Given the description of an element on the screen output the (x, y) to click on. 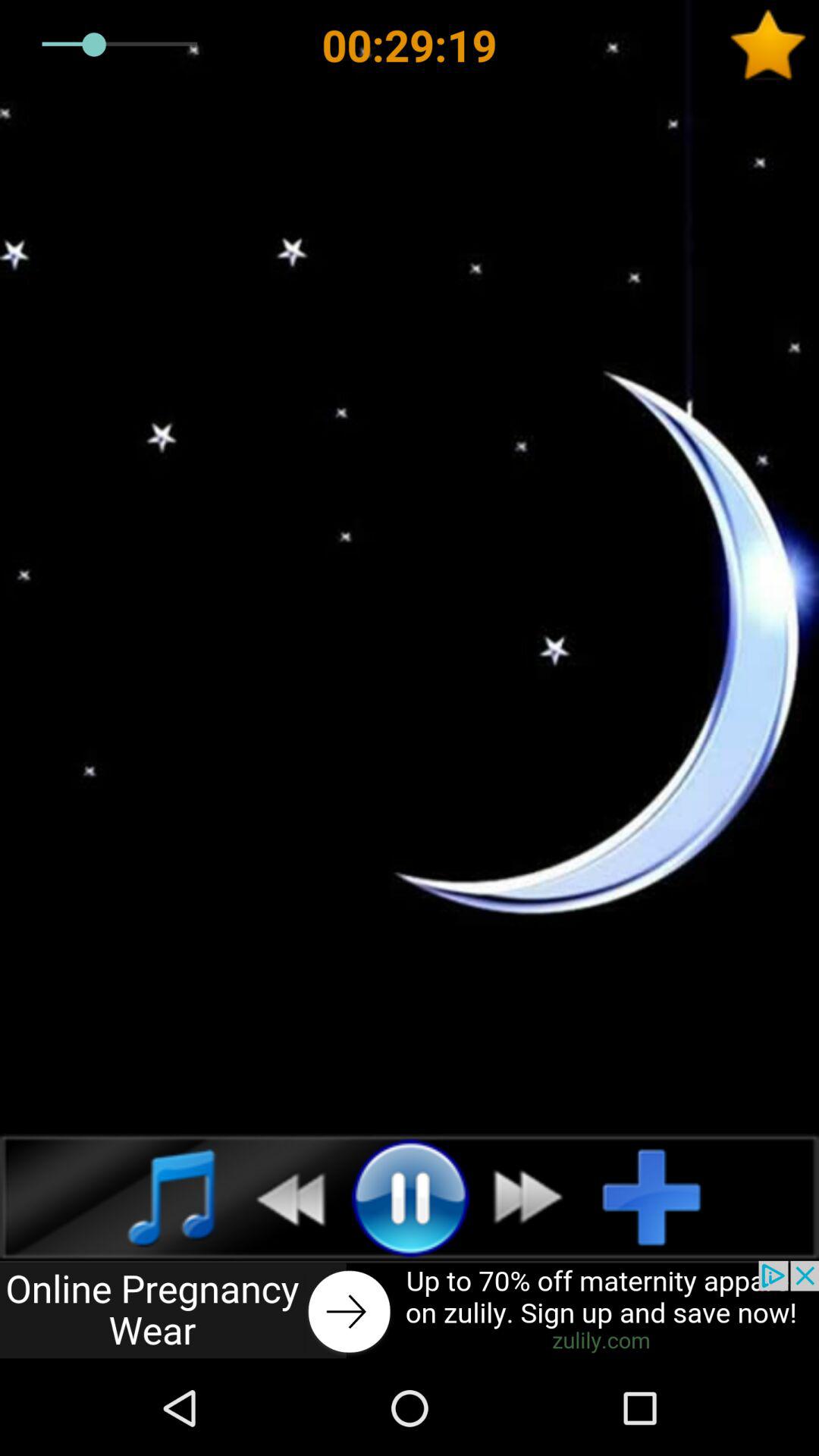
open favorites (774, 44)
